Given the description of an element on the screen output the (x, y) to click on. 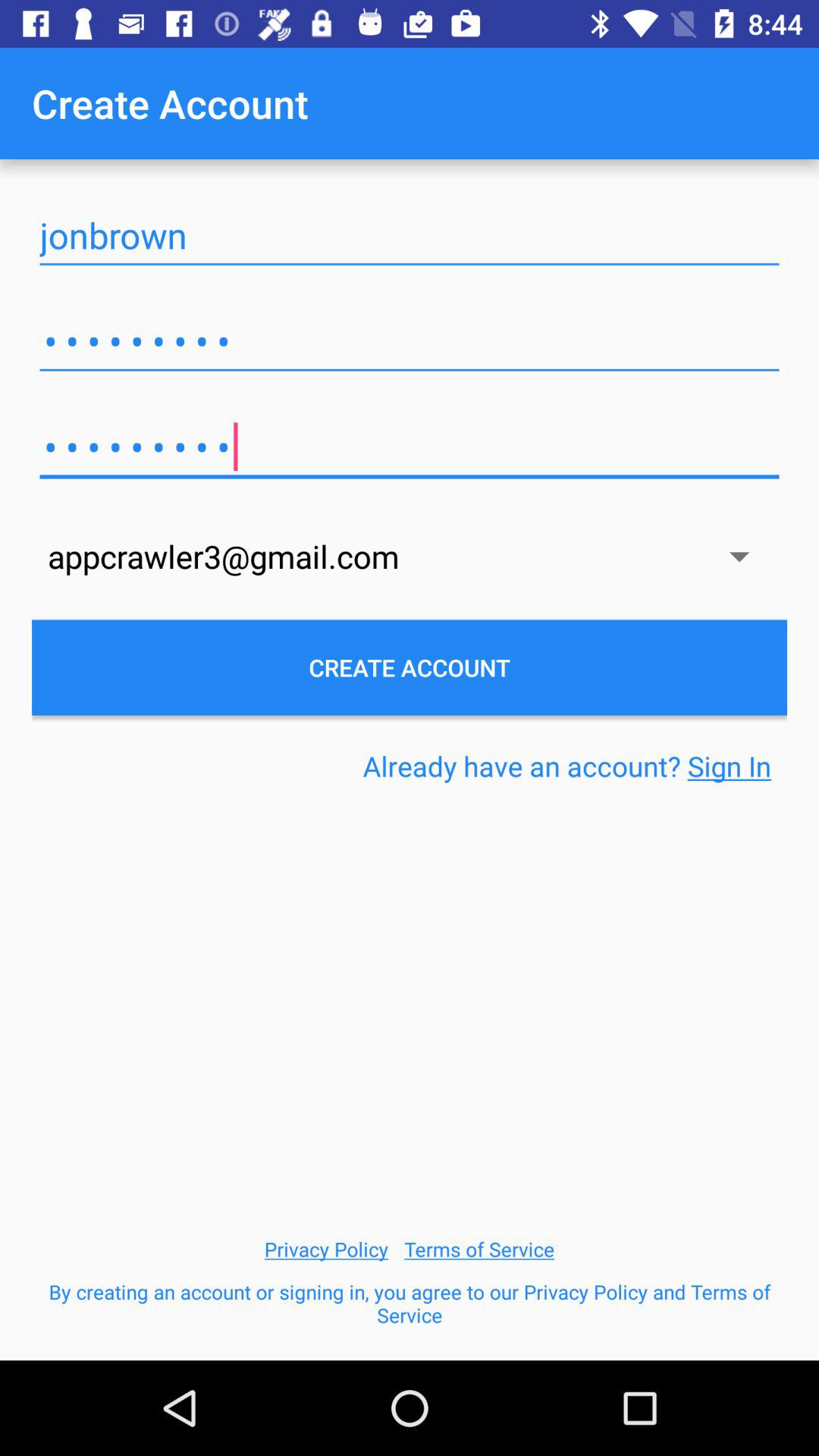
flip until the already have an icon (566, 765)
